Given the description of an element on the screen output the (x, y) to click on. 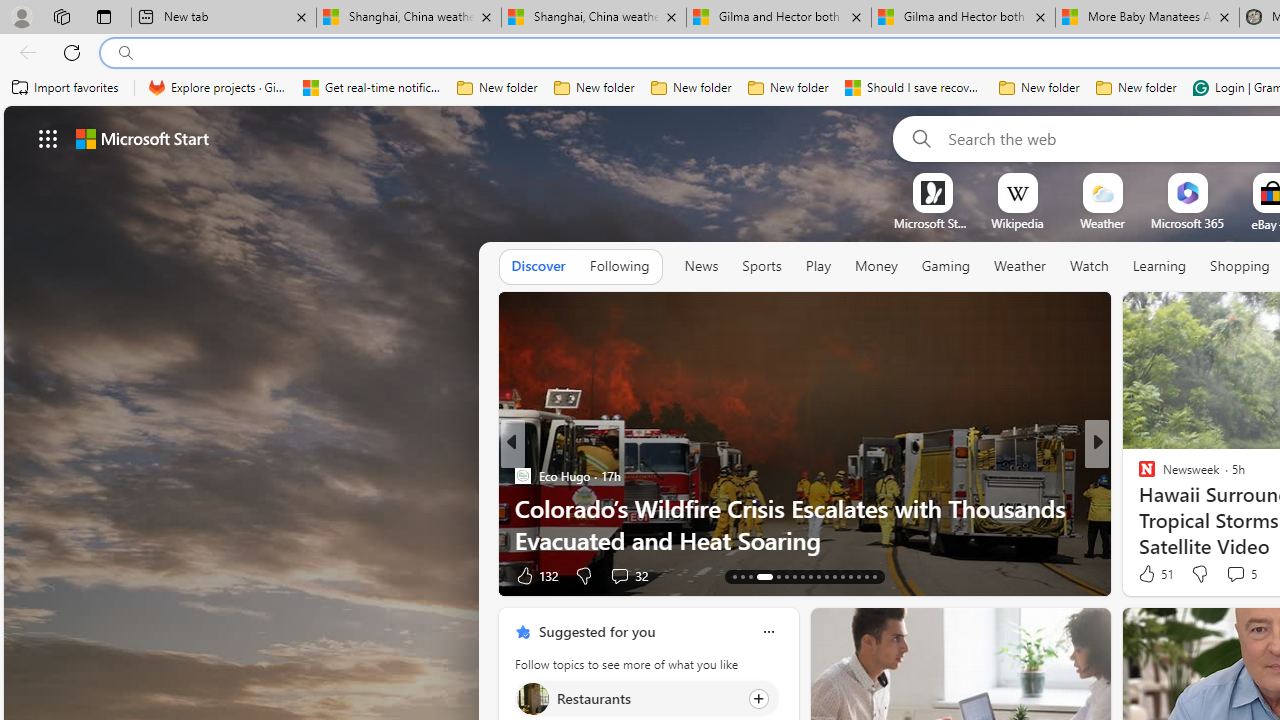
AutomationID: tab-26 (818, 576)
View comments 32 Comment (11, 575)
8 Like (1145, 574)
View comments 11 Comment (1229, 575)
2k Like (532, 574)
AutomationID: tab-28 (833, 576)
